Given the description of an element on the screen output the (x, y) to click on. 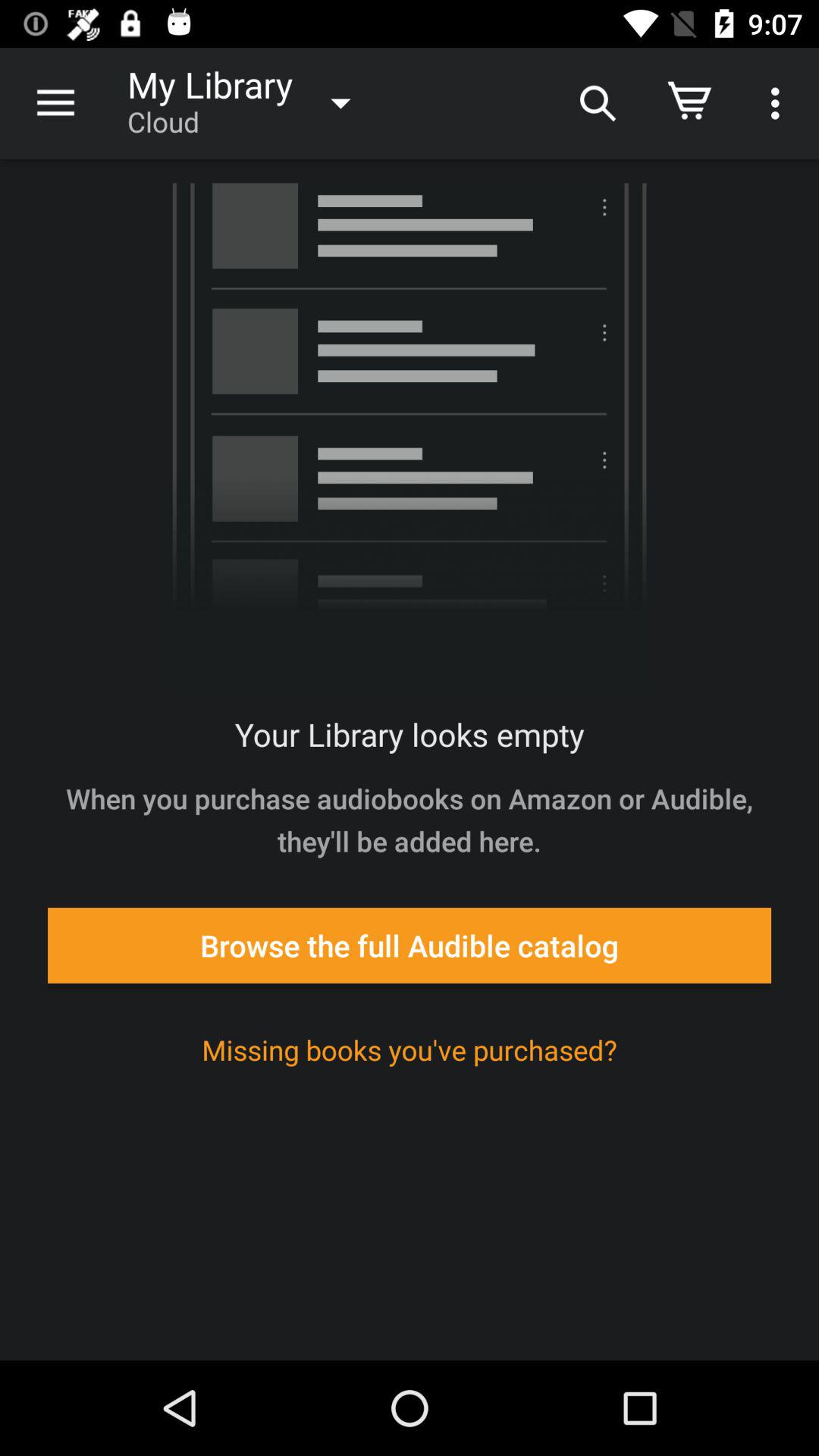
jump to the missing books you (409, 1049)
